Given the description of an element on the screen output the (x, y) to click on. 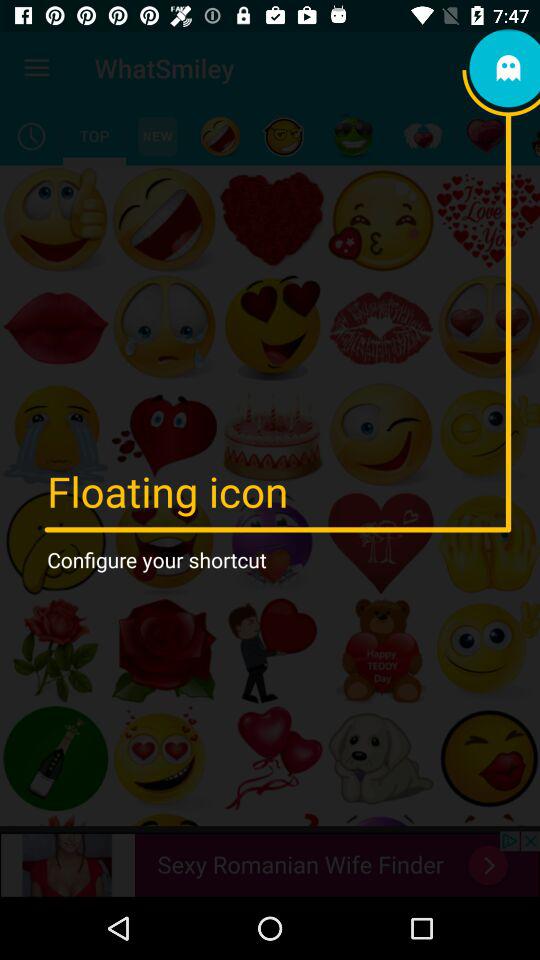
choose the item below whatsmiley (220, 136)
